Given the description of an element on the screen output the (x, y) to click on. 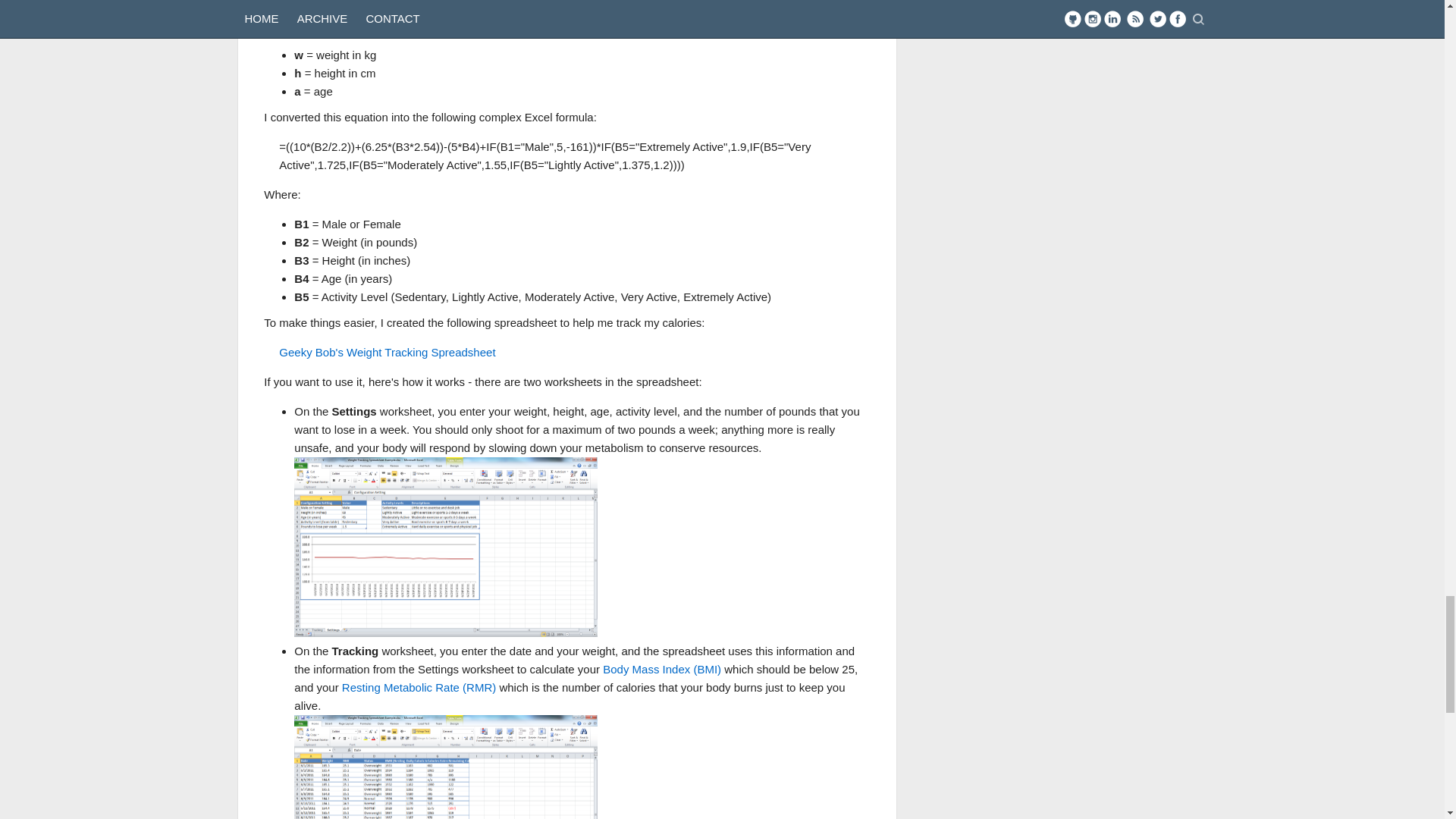
Geeky Bob's Weight Tracking Spreadsheet (387, 351)
